Given the description of an element on the screen output the (x, y) to click on. 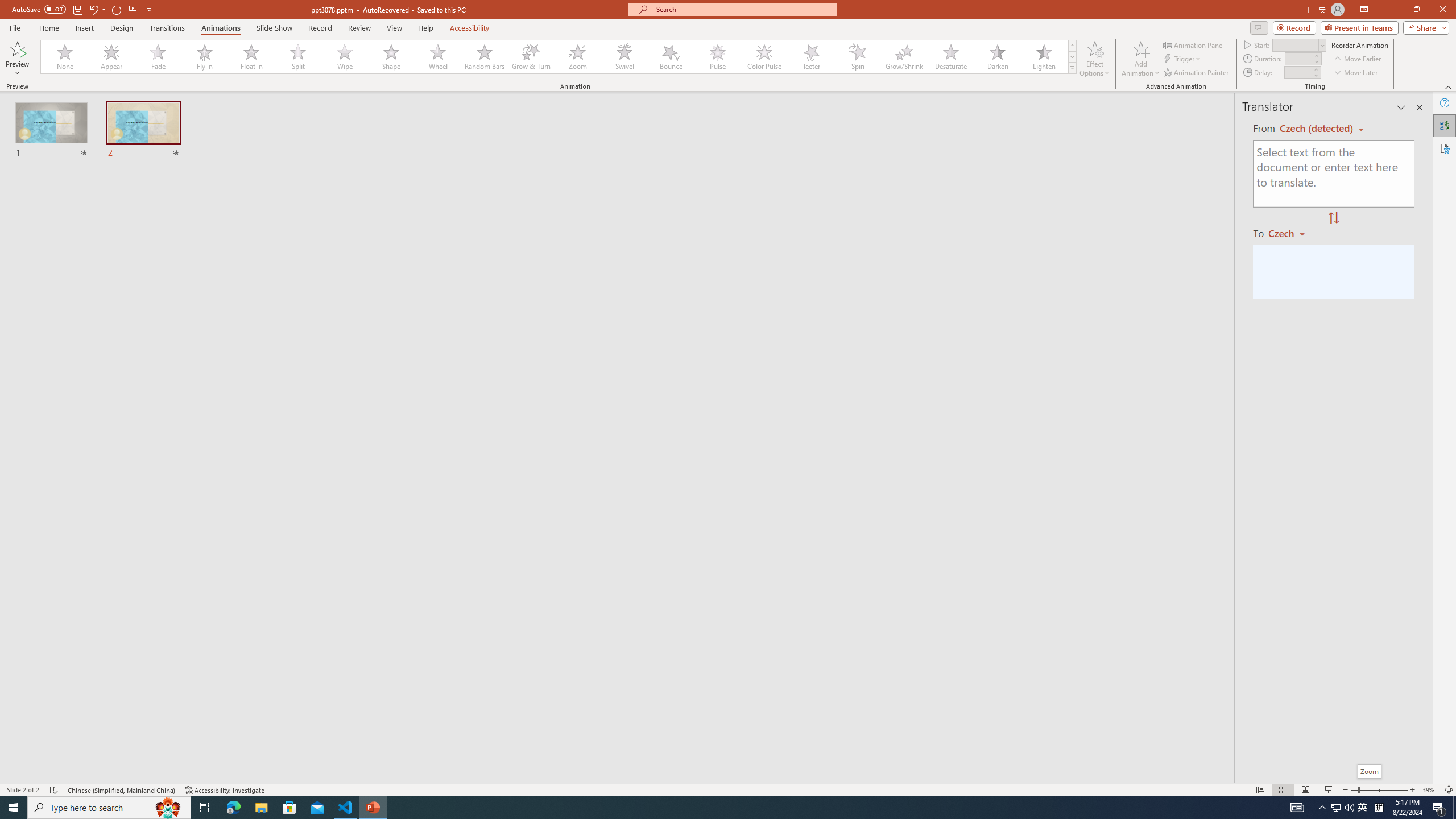
Spin (857, 56)
Bounce (670, 56)
Animation Pane (1193, 44)
Fade (158, 56)
